Given the description of an element on the screen output the (x, y) to click on. 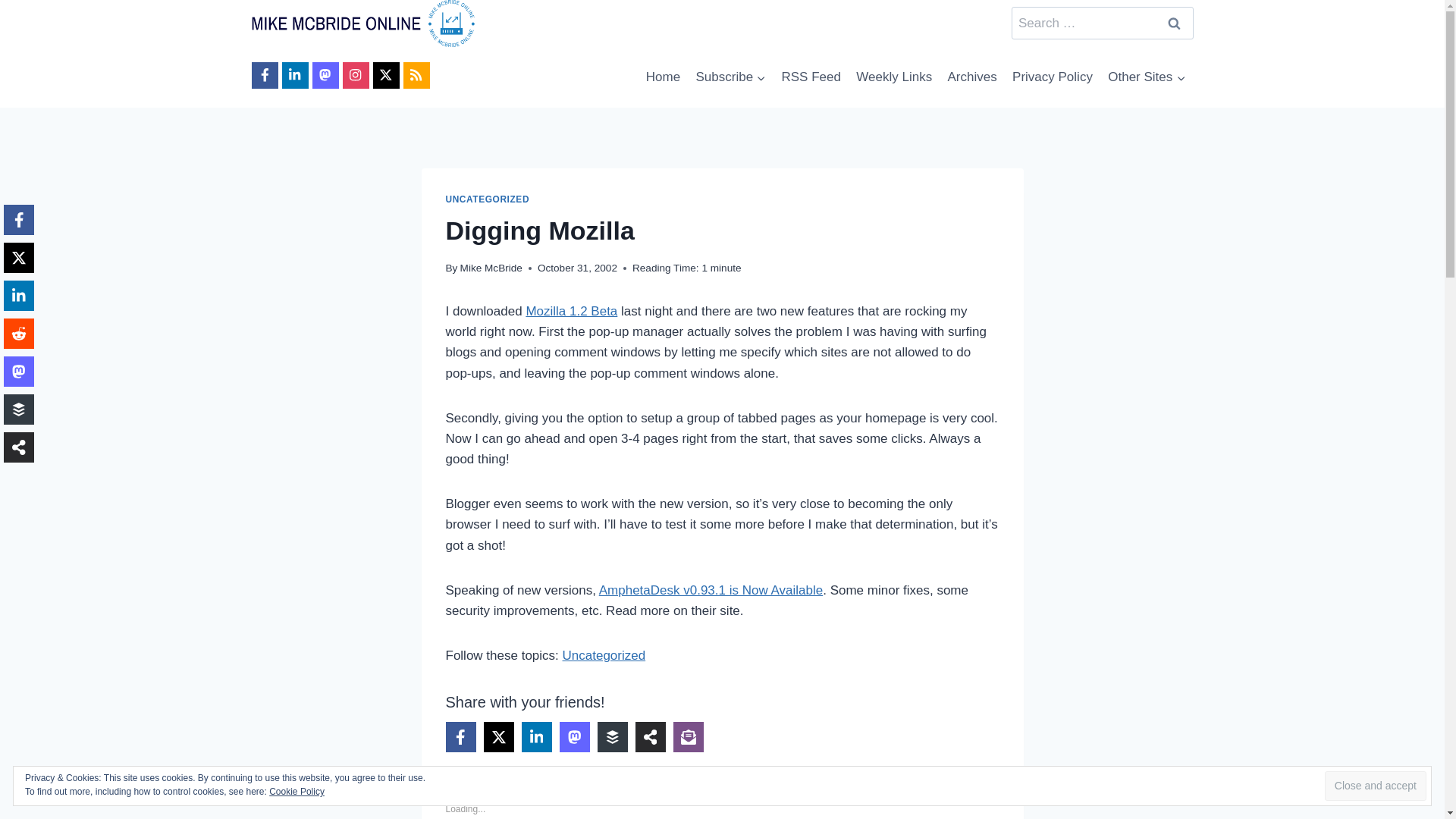
AmphetaDesk v0.93.1 is Now Available (710, 590)
Search (1174, 22)
Close and accept (1375, 785)
Search (1174, 22)
RSS Feed (810, 76)
Subscribe (730, 76)
Mozilla 1.2 Beta (571, 310)
Other Sites (1146, 76)
Mike McBride (491, 267)
Weekly Links (893, 76)
